Given the description of an element on the screen output the (x, y) to click on. 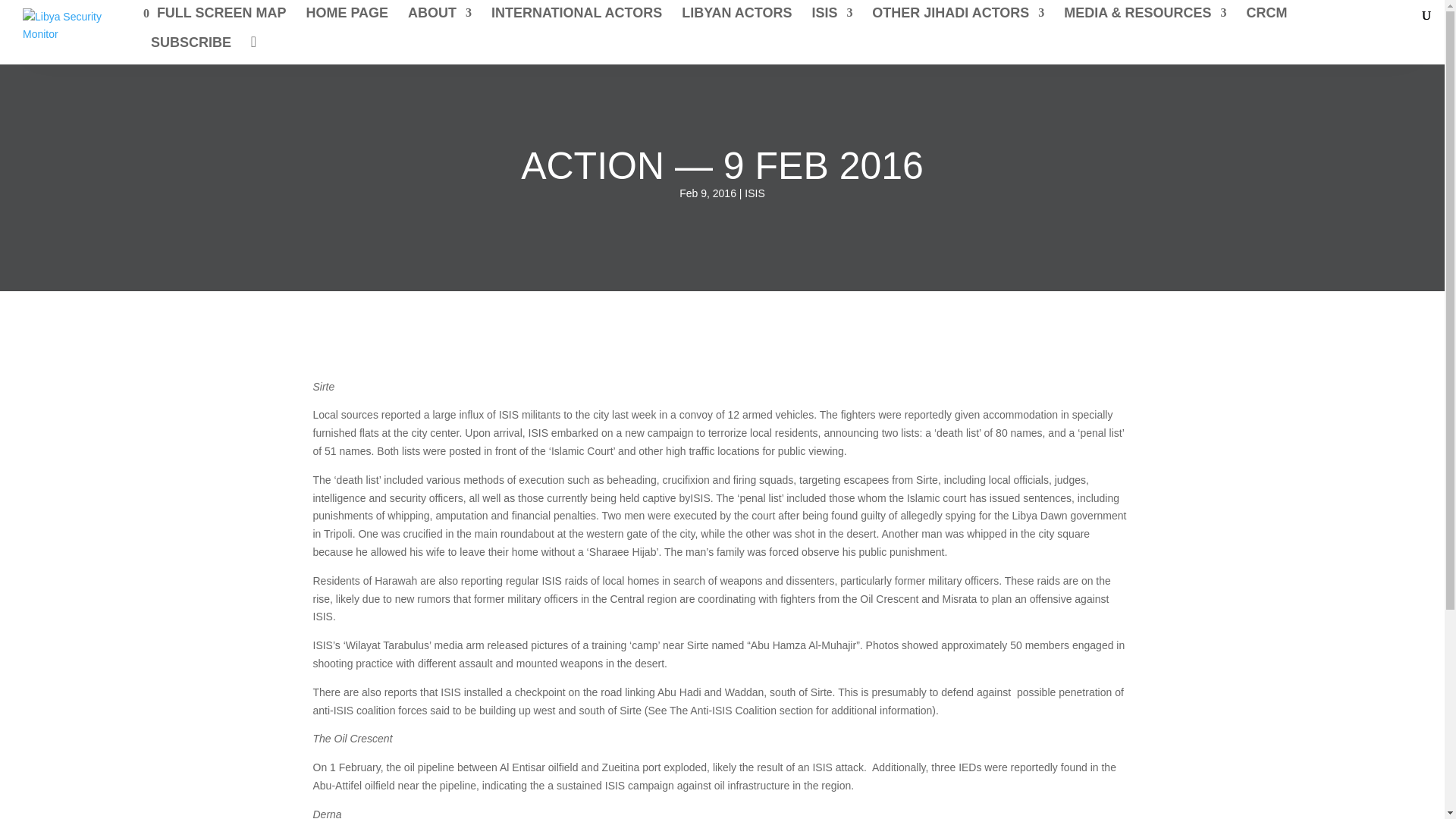
HOME PAGE (346, 20)
OTHER JIHADI ACTORS (957, 20)
INTERNATIONAL ACTORS (577, 20)
SUBSCRIBE (191, 49)
CRCM (1266, 20)
ABOUT (439, 20)
FULL SCREEN MAP (218, 20)
LIBYAN ACTORS (736, 20)
ISIS (830, 20)
